Given the description of an element on the screen output the (x, y) to click on. 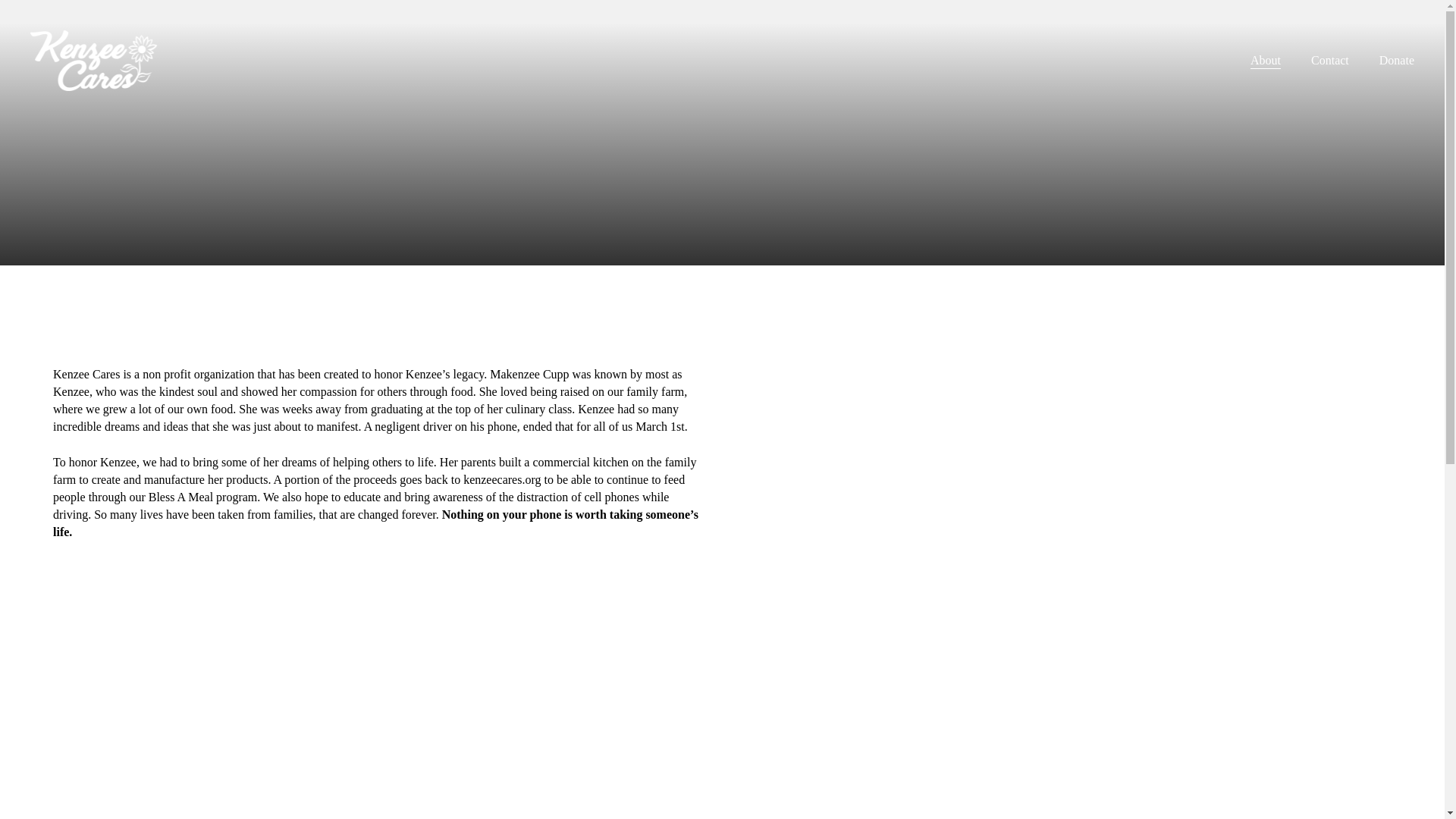
Donate (1395, 60)
About (1265, 60)
Contact (1330, 60)
